Given the description of an element on the screen output the (x, y) to click on. 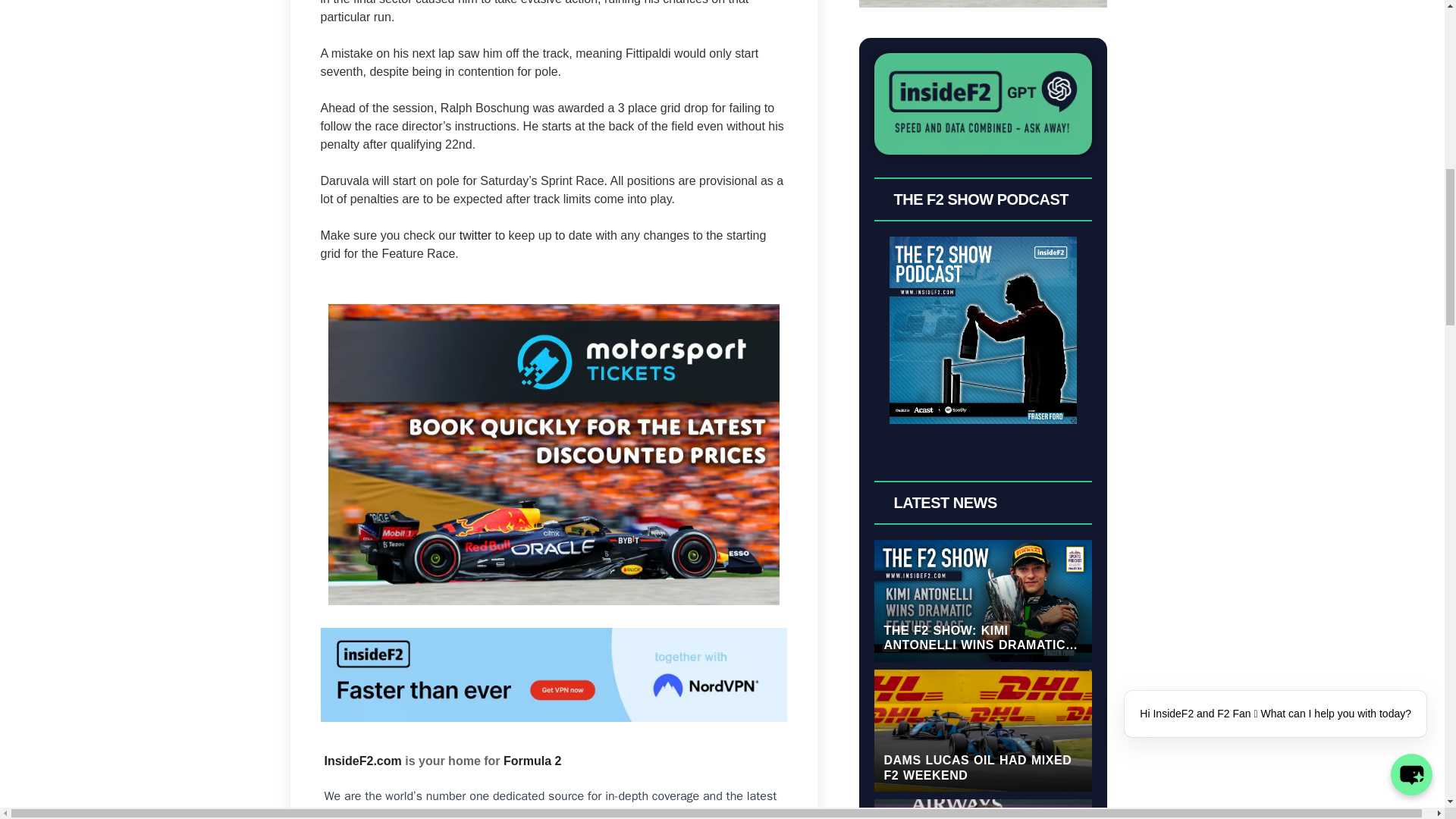
twitter (476, 235)
FIA Formula 2 Championship (483, 812)
InsideF2.com (362, 760)
Formula 2 (531, 760)
